Given the description of an element on the screen output the (x, y) to click on. 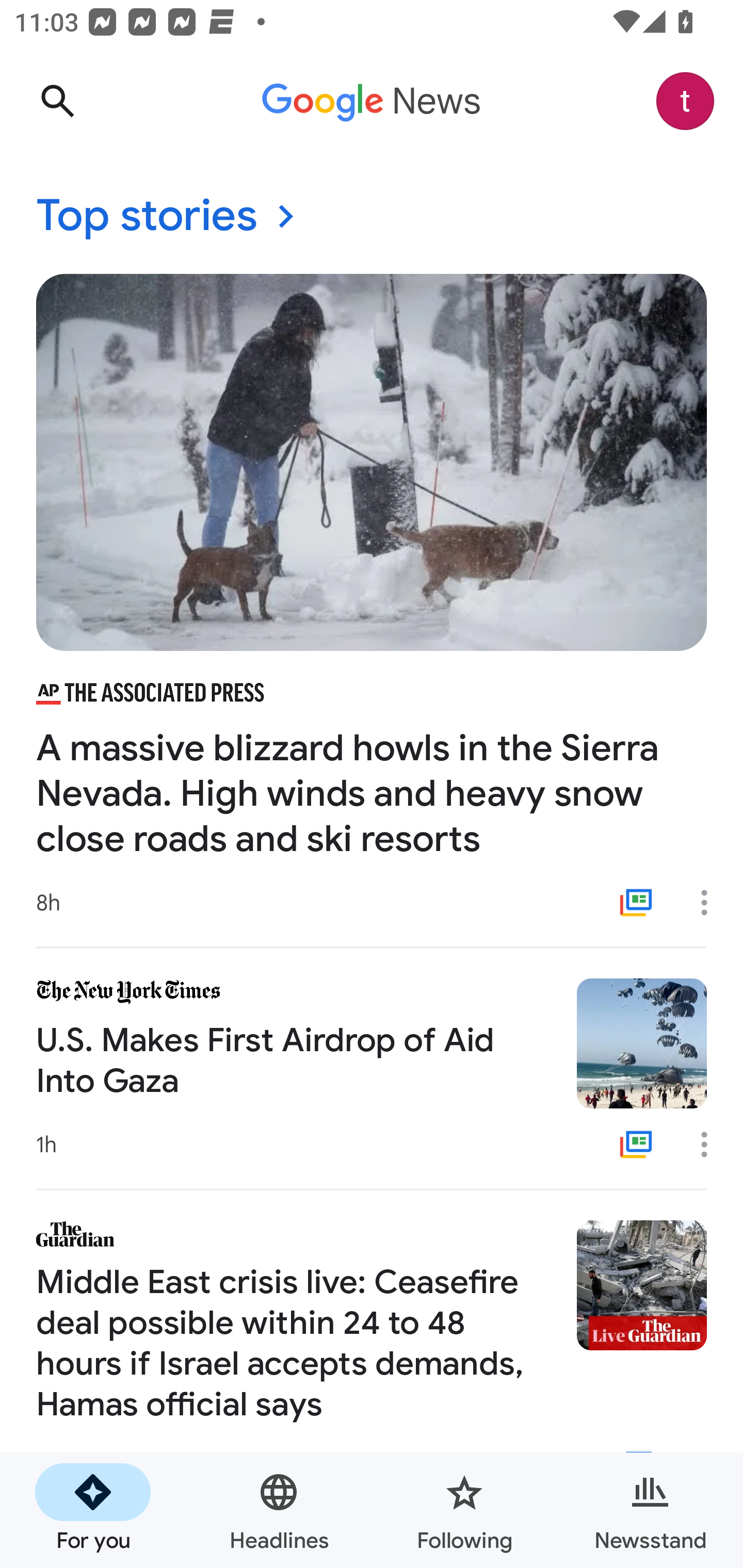
Search (57, 100)
Top stories (371, 216)
More options (711, 902)
More options (711, 1144)
For you (92, 1509)
Headlines (278, 1509)
Following (464, 1509)
Newsstand (650, 1509)
